Given the description of an element on the screen output the (x, y) to click on. 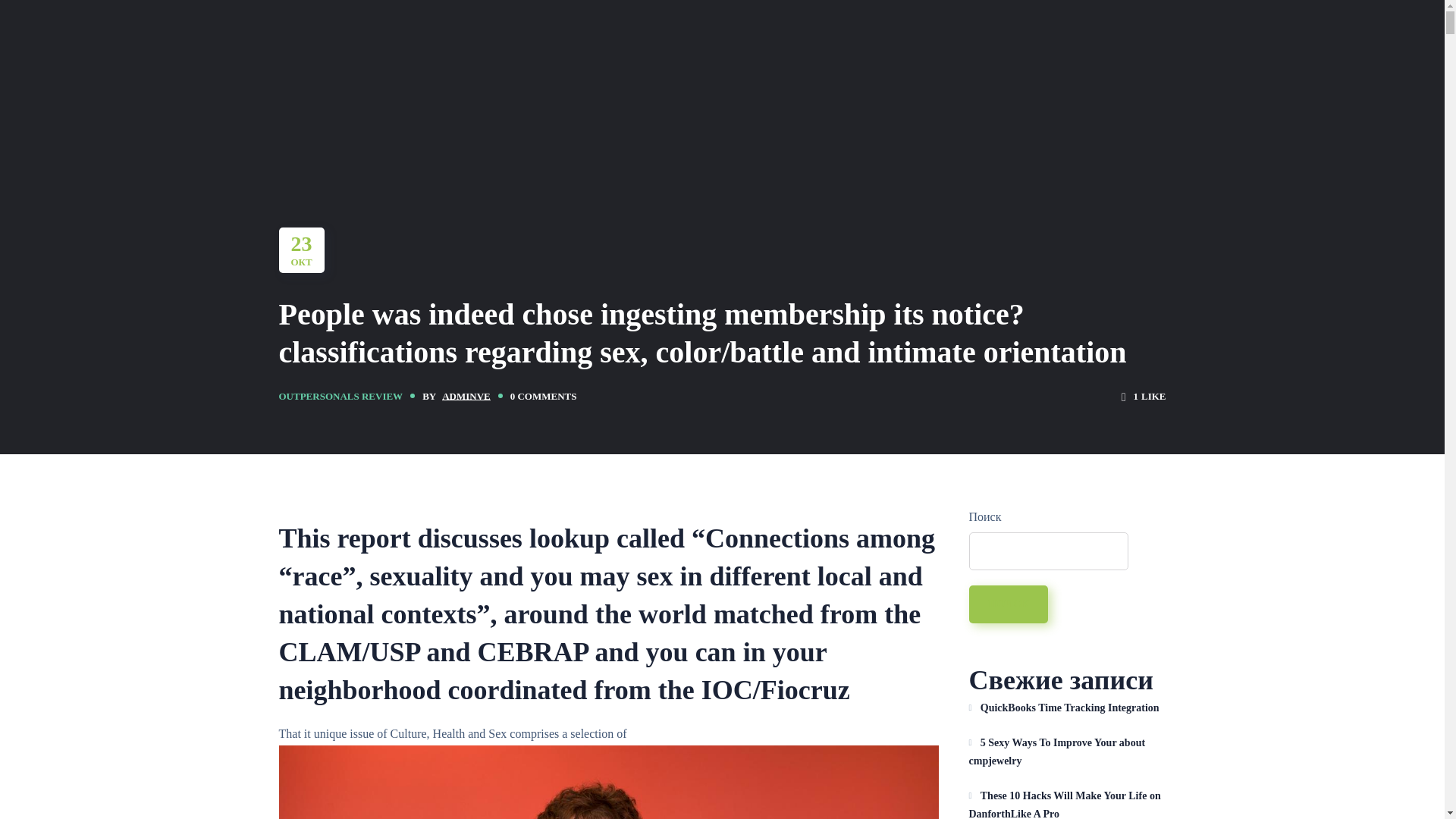
QuickBooks Time Tracking Integration (1067, 708)
Leave a reply (543, 395)
1 LIKE (1143, 396)
These 10 Hacks Will Make Your Life on DanforthLike A Pro (1067, 803)
Like (1143, 396)
5 Sexy Ways To Improve Your about cmpjewelry (1067, 751)
0 COMMENTS (543, 395)
ADMINVE (466, 396)
OUTPERSONALS REVIEW (341, 396)
